Given the description of an element on the screen output the (x, y) to click on. 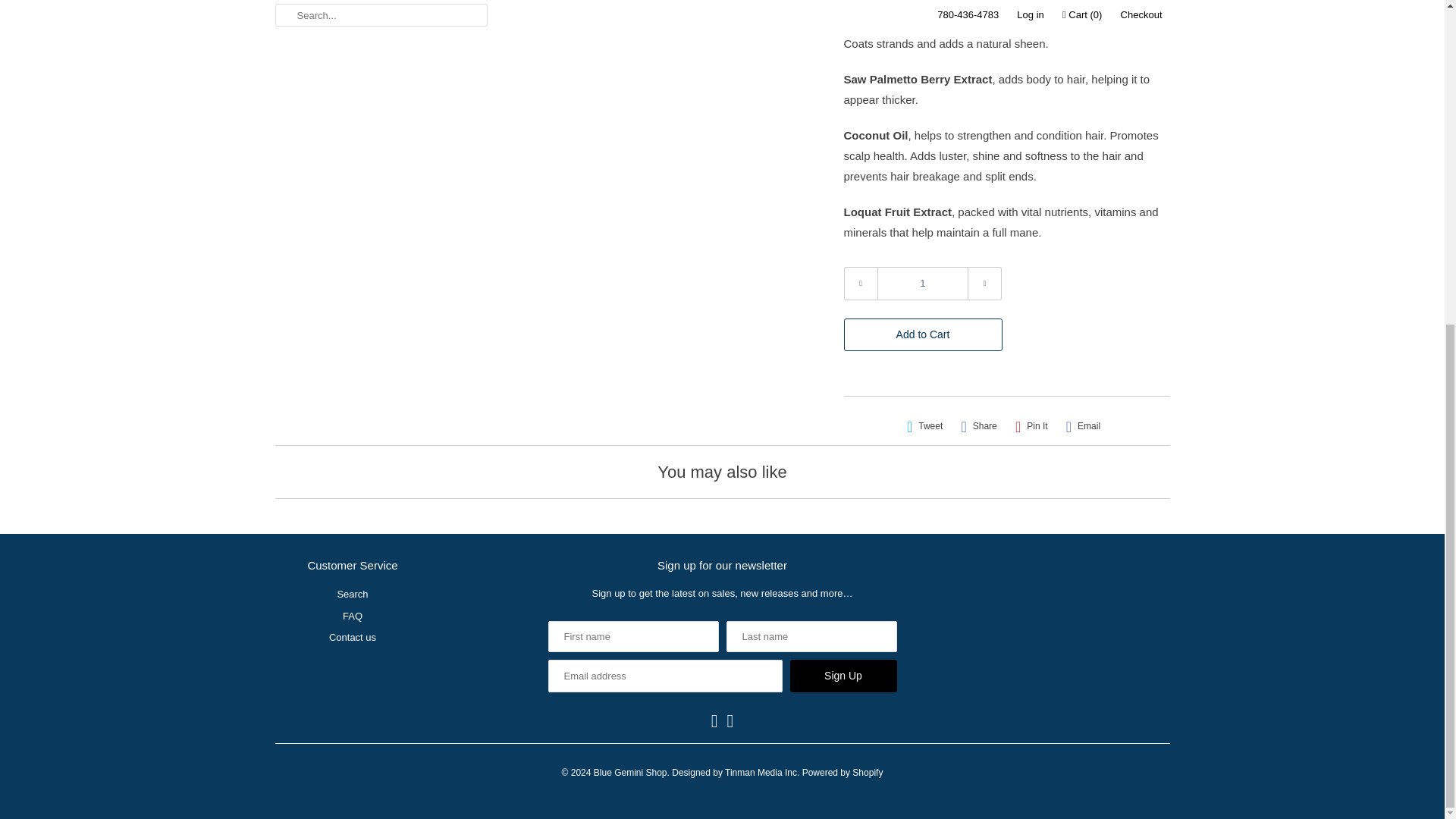
Email this to a friend (1083, 426)
Share this on Facebook (978, 426)
Sign Up (843, 676)
Share this on Pinterest (1031, 426)
Share this on Twitter (924, 426)
1 (922, 283)
